Given the description of an element on the screen output the (x, y) to click on. 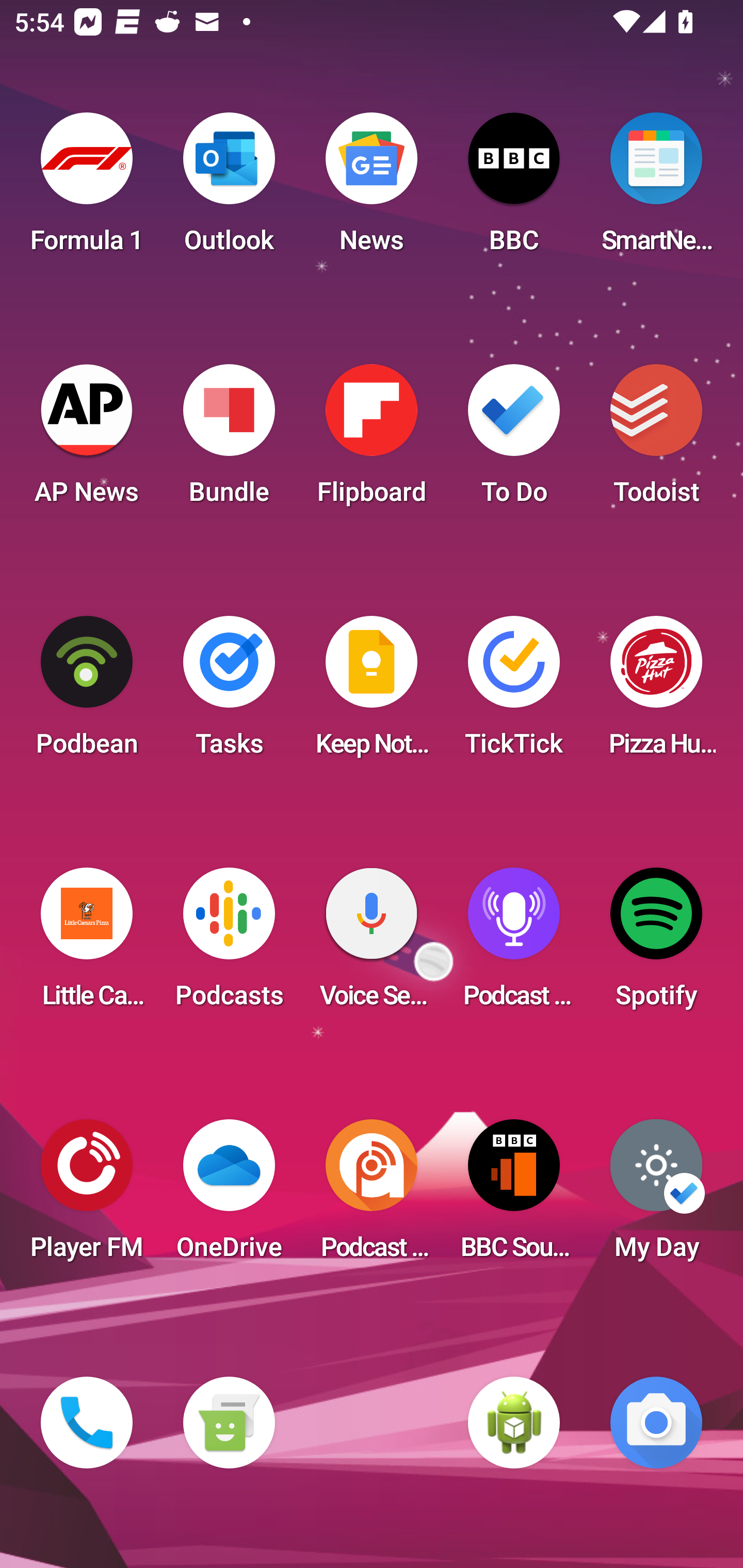
Formula 1 (86, 188)
Outlook (228, 188)
News (371, 188)
BBC (513, 188)
SmartNews (656, 188)
AP News (86, 440)
Bundle (228, 440)
Flipboard (371, 440)
To Do (513, 440)
Todoist (656, 440)
Podbean (86, 692)
Tasks (228, 692)
Keep Notes (371, 692)
TickTick (513, 692)
Pizza Hut HK & Macau (656, 692)
Little Caesars Pizza (86, 943)
Podcasts (228, 943)
Voice Search (371, 943)
Podcast Player (513, 943)
Spotify (656, 943)
Player FM (86, 1195)
OneDrive (228, 1195)
Podcast Addict (371, 1195)
BBC Sounds (513, 1195)
My Day (656, 1195)
Phone (86, 1422)
Messaging (228, 1422)
WebView Browser Tester (513, 1422)
Camera (656, 1422)
